Given the description of an element on the screen output the (x, y) to click on. 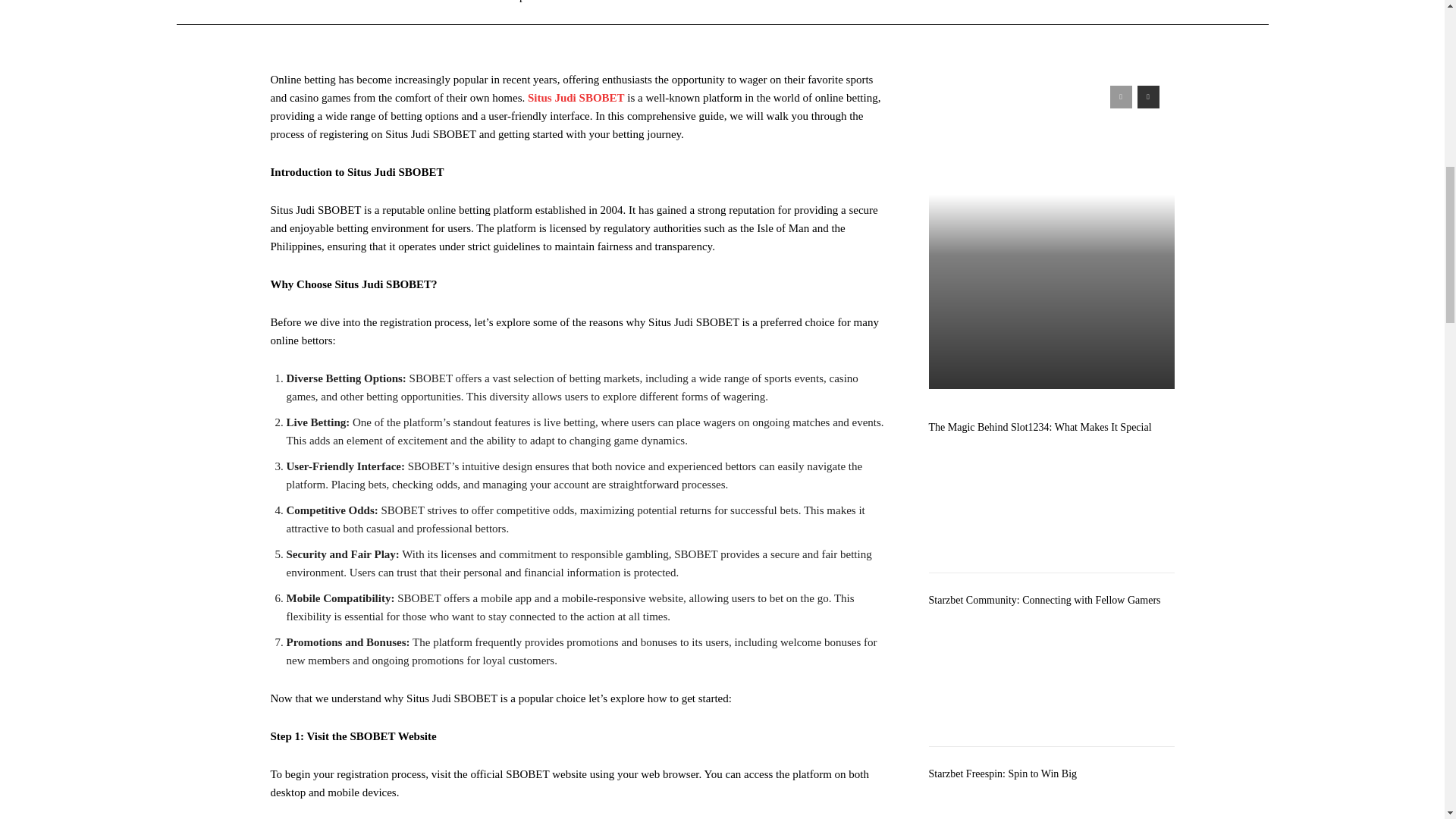
The Magic Behind Slot1234: What Makes It Special (1039, 427)
The Magic Behind Slot1234: What Makes It Special (1050, 499)
Starzbet Community: Connecting with Fellow Gamers (1044, 600)
Situs Judi SBOBET (575, 97)
Starzbet Community: Connecting with Fellow Gamers (1050, 672)
